Given the description of an element on the screen output the (x, y) to click on. 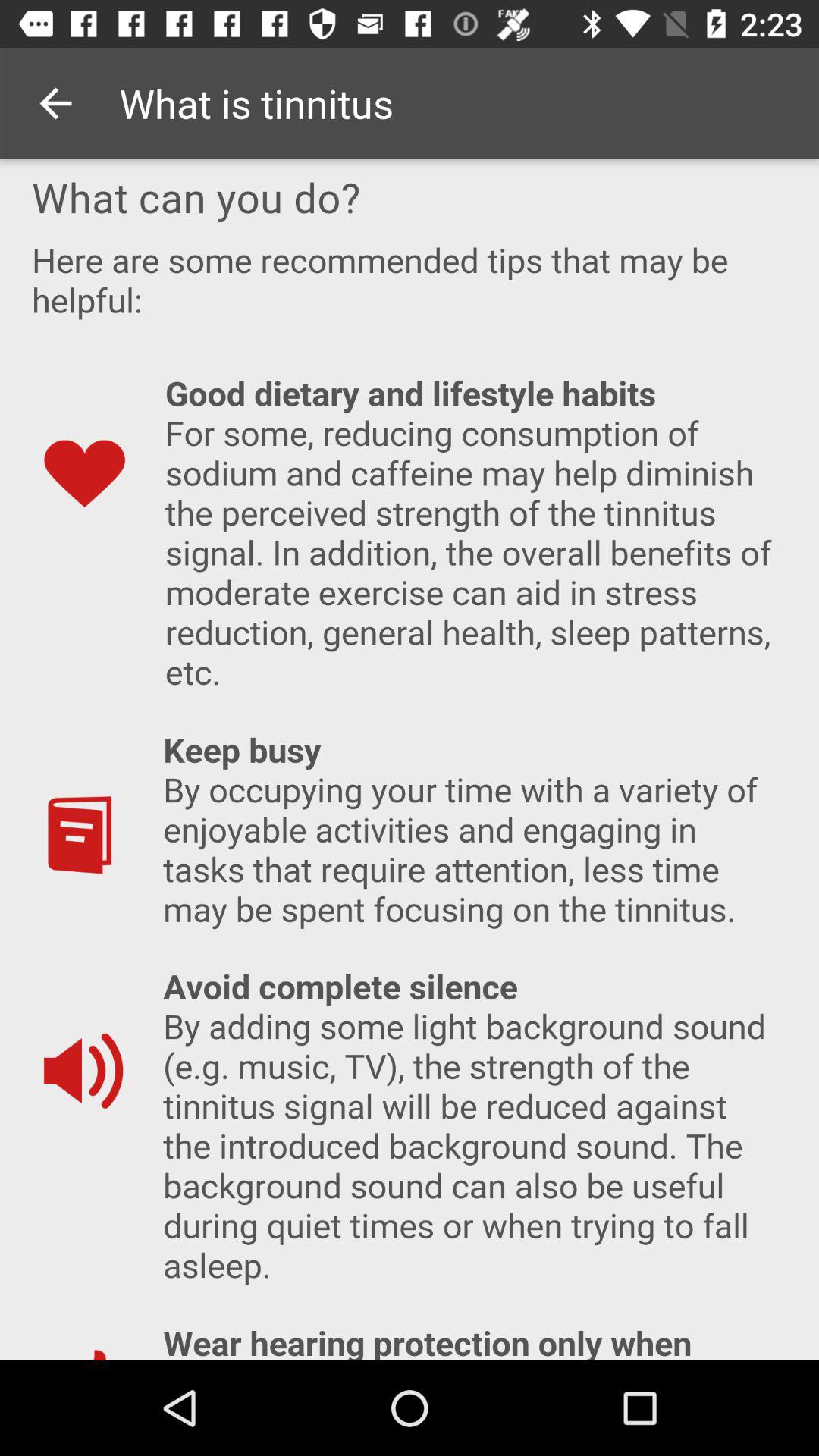
description (409, 759)
